Given the description of an element on the screen output the (x, y) to click on. 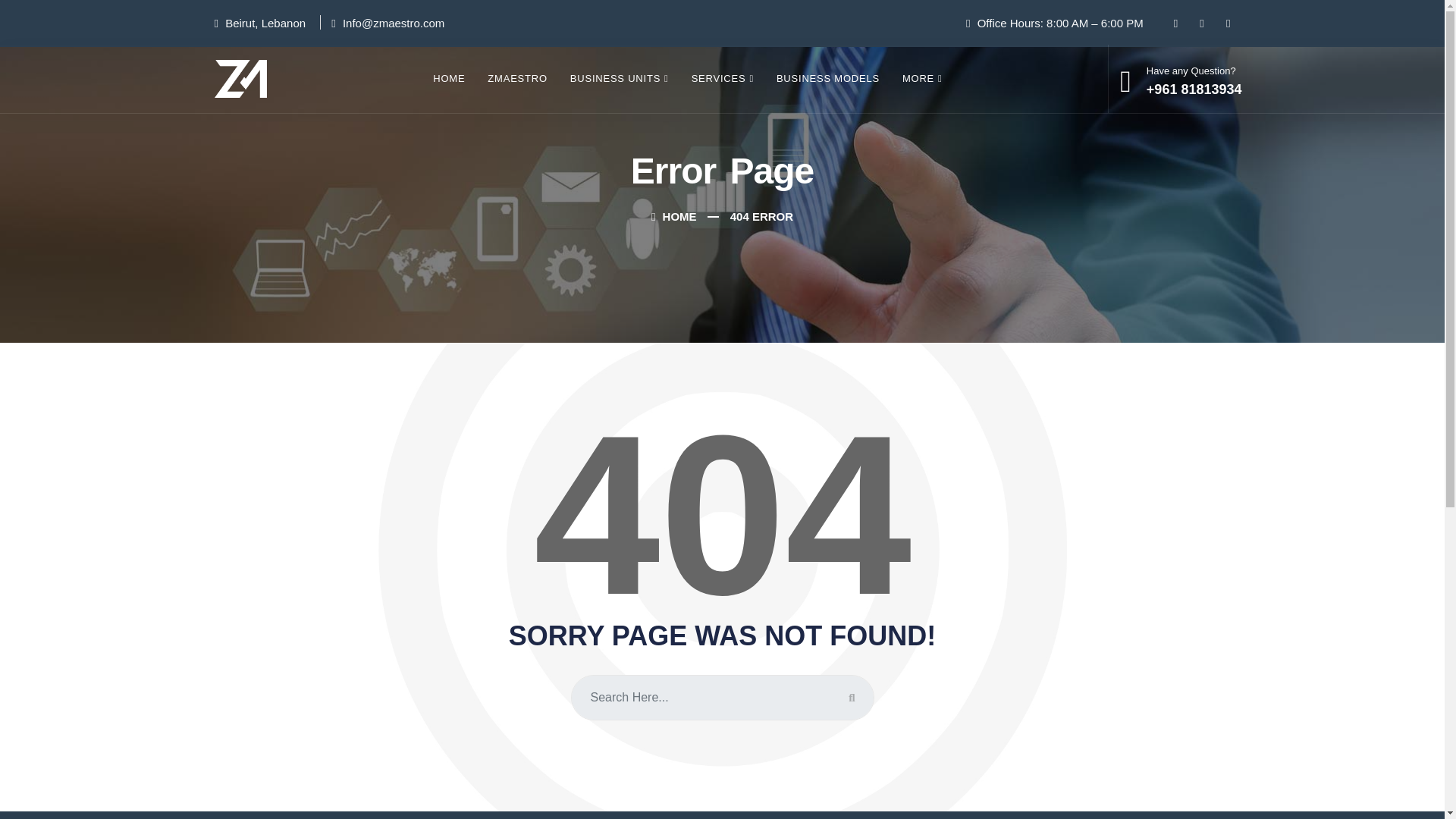
ZMAESTRO (516, 79)
BUSINESS UNITS (619, 79)
SERVICES (722, 79)
ZMAESTRO (516, 79)
MORE (922, 79)
Services (722, 79)
HOME (673, 215)
BUSINESS MODELS (828, 79)
More (922, 79)
Business Models (828, 79)
Business Units (619, 79)
